Given the description of an element on the screen output the (x, y) to click on. 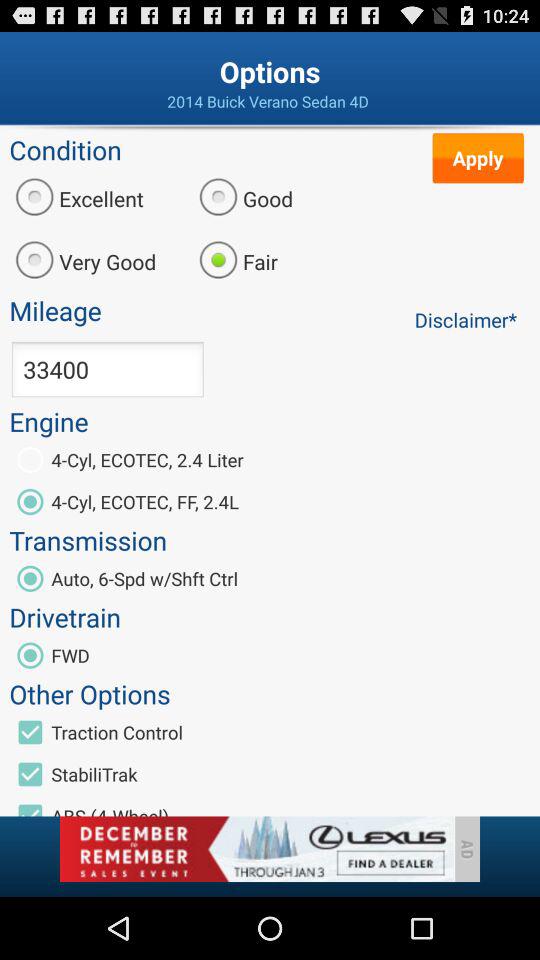
advertisement (256, 849)
